Given the description of an element on the screen output the (x, y) to click on. 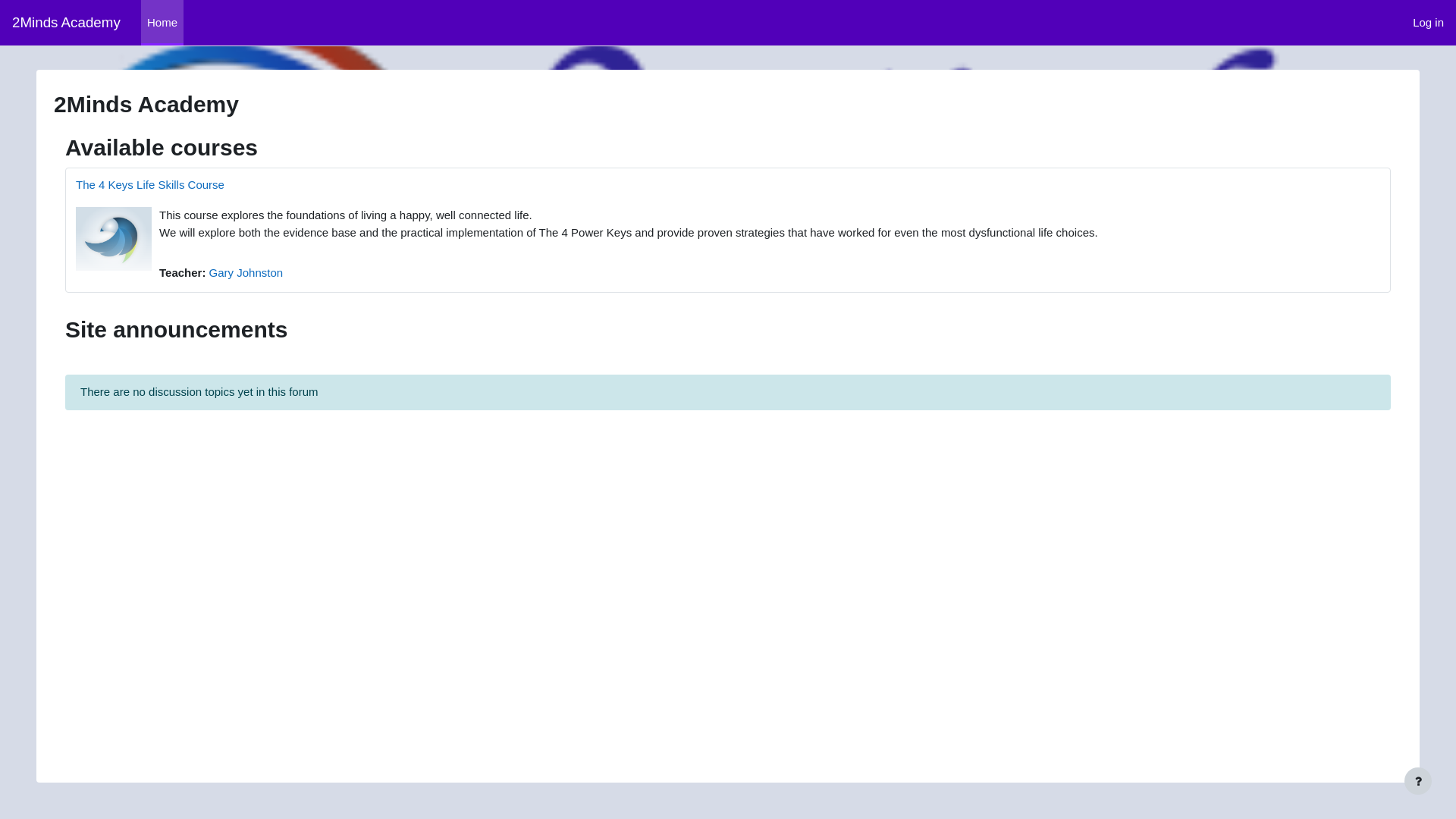
2Minds Academy Element type: text (66, 22)
Gary Johnston Element type: text (246, 272)
The 4 Keys Life Skills Course Element type: text (149, 184)
Log in Element type: text (1427, 22)
Home Element type: text (162, 22)
